Given the description of an element on the screen output the (x, y) to click on. 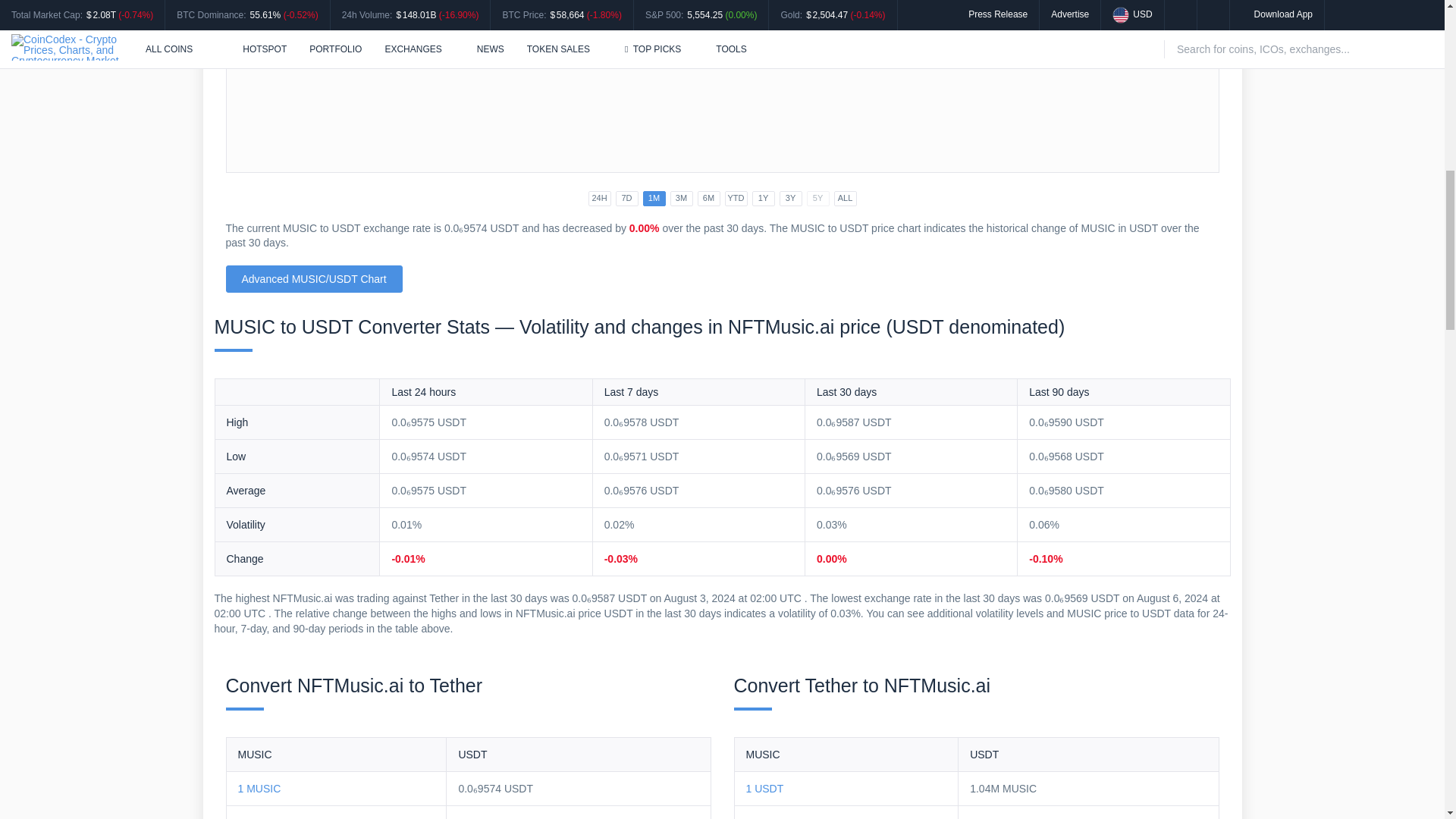
1 USDT (764, 788)
1 MUSIC (259, 788)
5 USDT (764, 817)
5 MUSIC (259, 817)
